Given the description of an element on the screen output the (x, y) to click on. 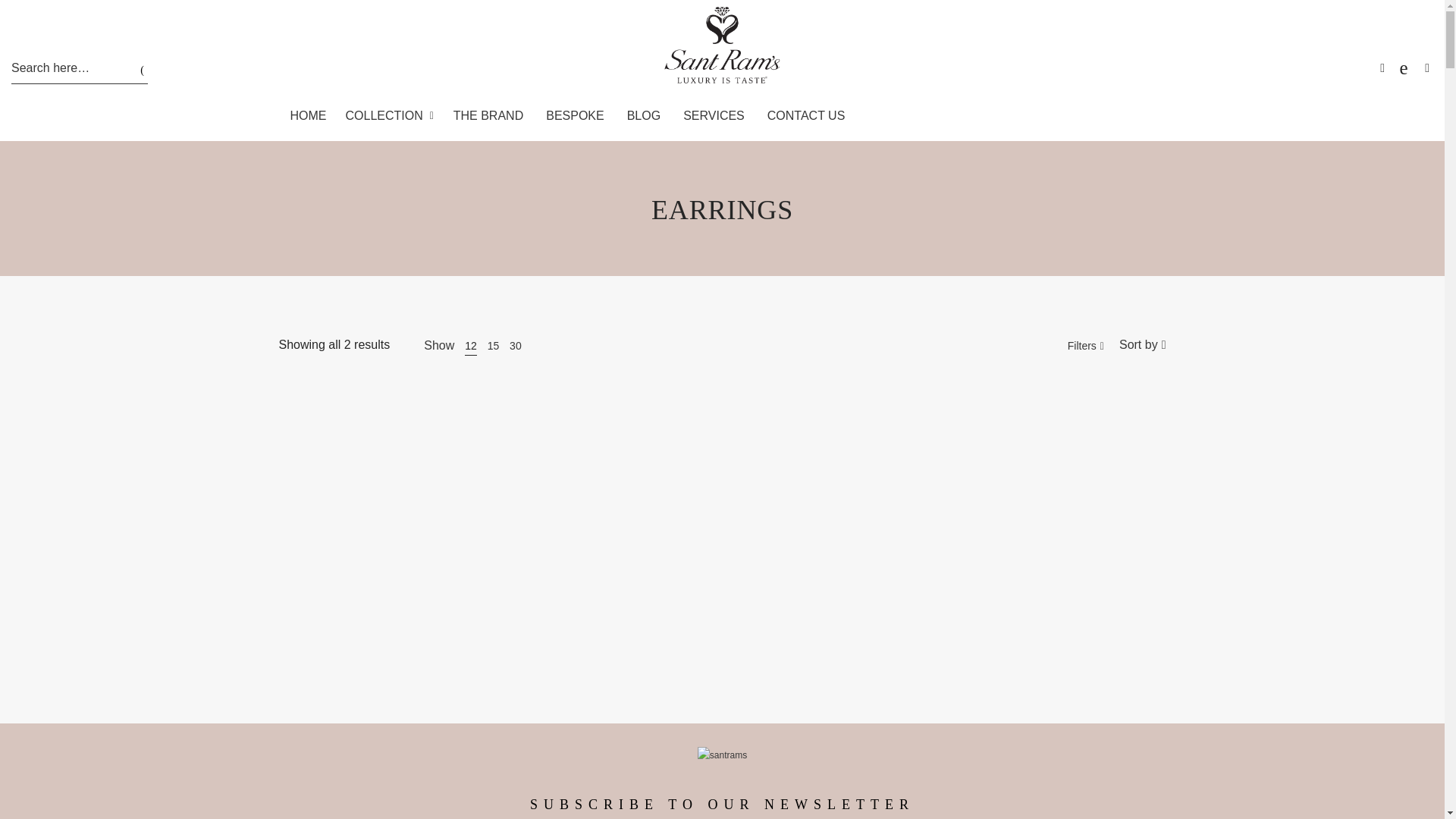
COLLECTION (389, 115)
HOME (308, 115)
Search for: (62, 68)
SERVICES (713, 115)
THE BRAND (488, 115)
CONTACT US (806, 115)
BLOG (643, 115)
BESPOKE (574, 115)
